Given the description of an element on the screen output the (x, y) to click on. 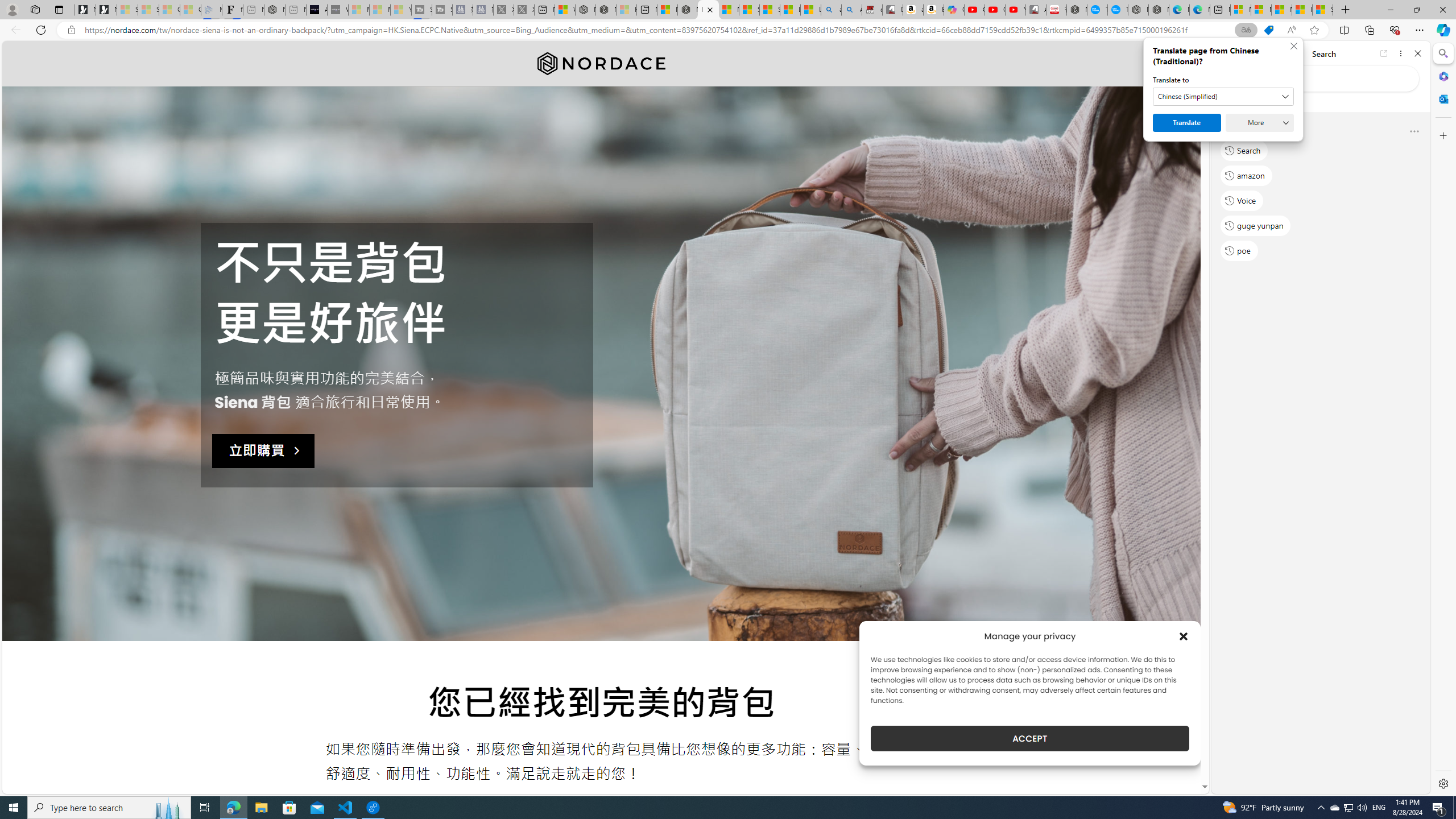
Recent searchesSearchamazonVoiceguge yunpanpoe (1320, 194)
X - Sleeping (523, 9)
Streaming Coverage | T3 - Sleeping (421, 9)
Settings (1442, 783)
Nordace - Nordace has arrived Hong Kong (1158, 9)
This site has coupons! Shopping in Microsoft Edge (1268, 29)
